Given the description of an element on the screen output the (x, y) to click on. 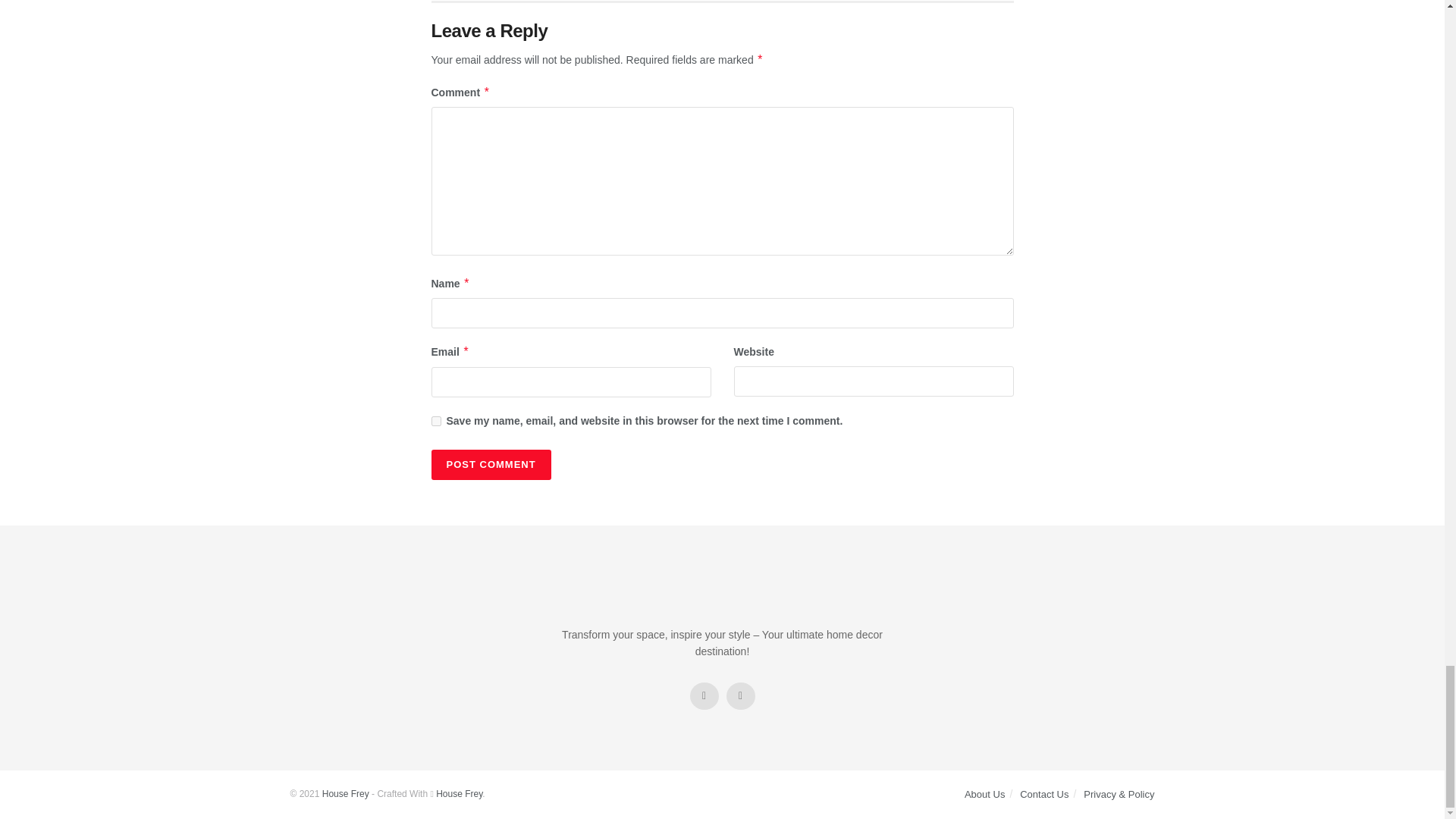
Post Comment (490, 464)
House Frey (458, 793)
House Frey (345, 793)
yes (435, 420)
